Given the description of an element on the screen output the (x, y) to click on. 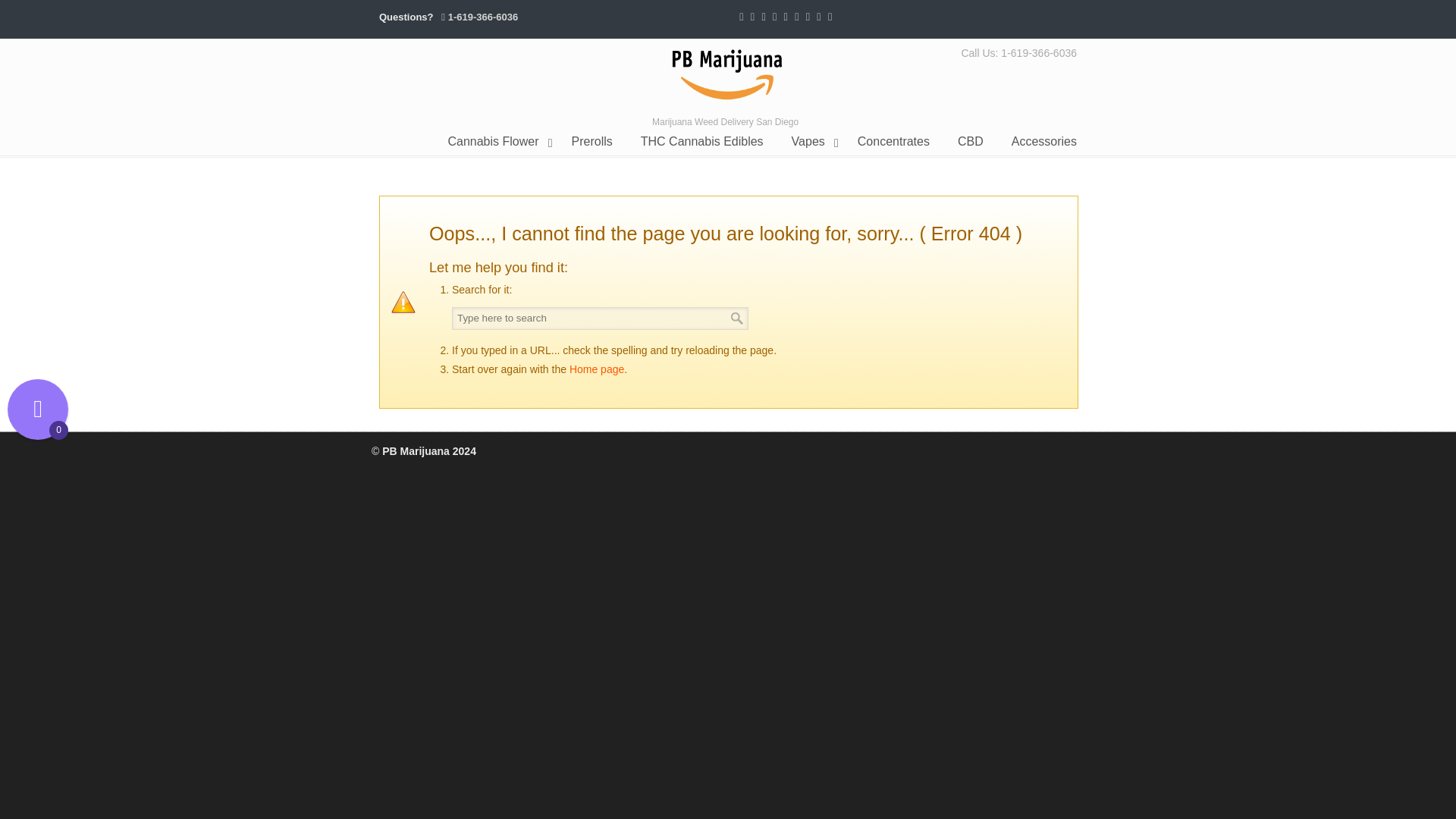
Search (737, 318)
Search (737, 318)
Concentrates (893, 142)
Home page (596, 369)
Prerolls (591, 142)
PB Marijuana (727, 75)
THC Cannabis Edibles (702, 142)
Accessories (1043, 142)
Vapes (810, 142)
CBD (970, 142)
Cannabis Flower (494, 142)
1-619-366-6036 (483, 16)
PB Marijuana (727, 75)
